Given the description of an element on the screen output the (x, y) to click on. 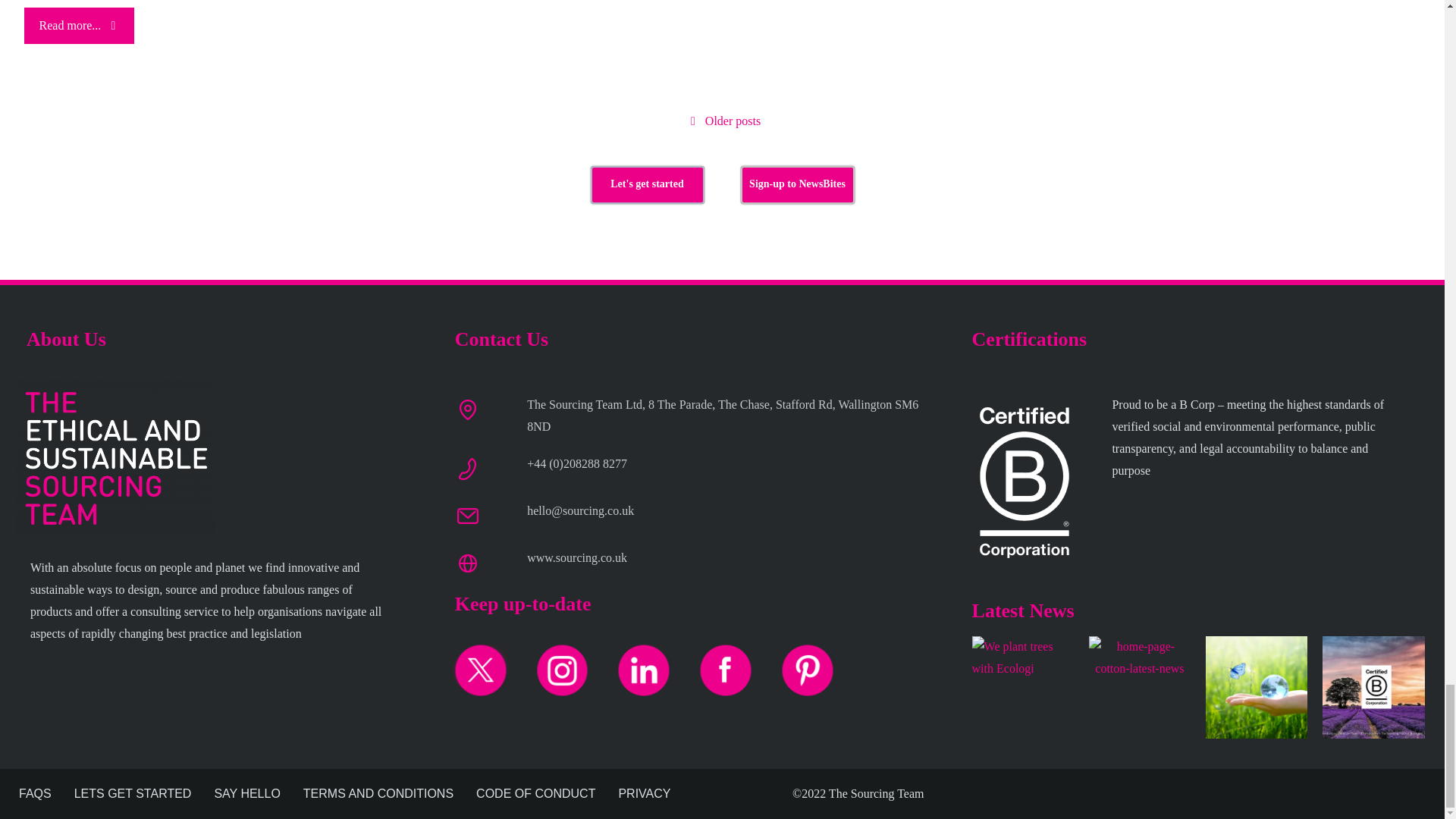
home-page-cotton-latest-news (1140, 658)
View our Ecologi profile (1023, 674)
Let's get started (646, 184)
Sign-up to NewsBites (796, 184)
